Given the description of an element on the screen output the (x, y) to click on. 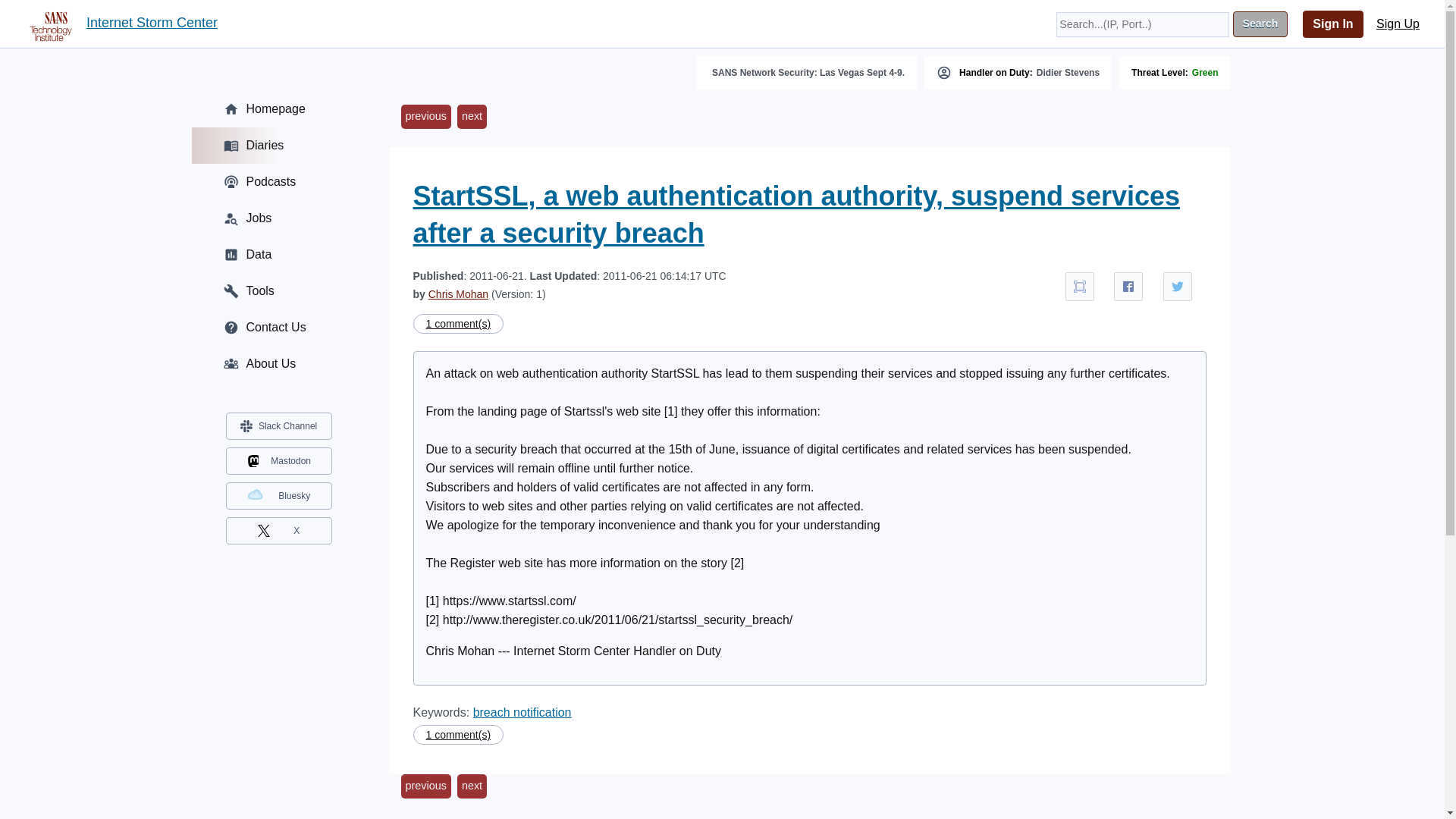
Didier Stevens (1067, 72)
Share on Facebook (1127, 286)
Chris Mohan (457, 294)
previous (424, 785)
Full Screen (1079, 286)
next (471, 785)
breach notification (522, 712)
Didier Stevens (1067, 72)
Podcasts (277, 181)
Homepage (277, 108)
Share on Twitter (1177, 286)
Search (1260, 23)
Search (1260, 23)
SANS Network Security: Las Vegas Sept 4-9. (807, 72)
